Given the description of an element on the screen output the (x, y) to click on. 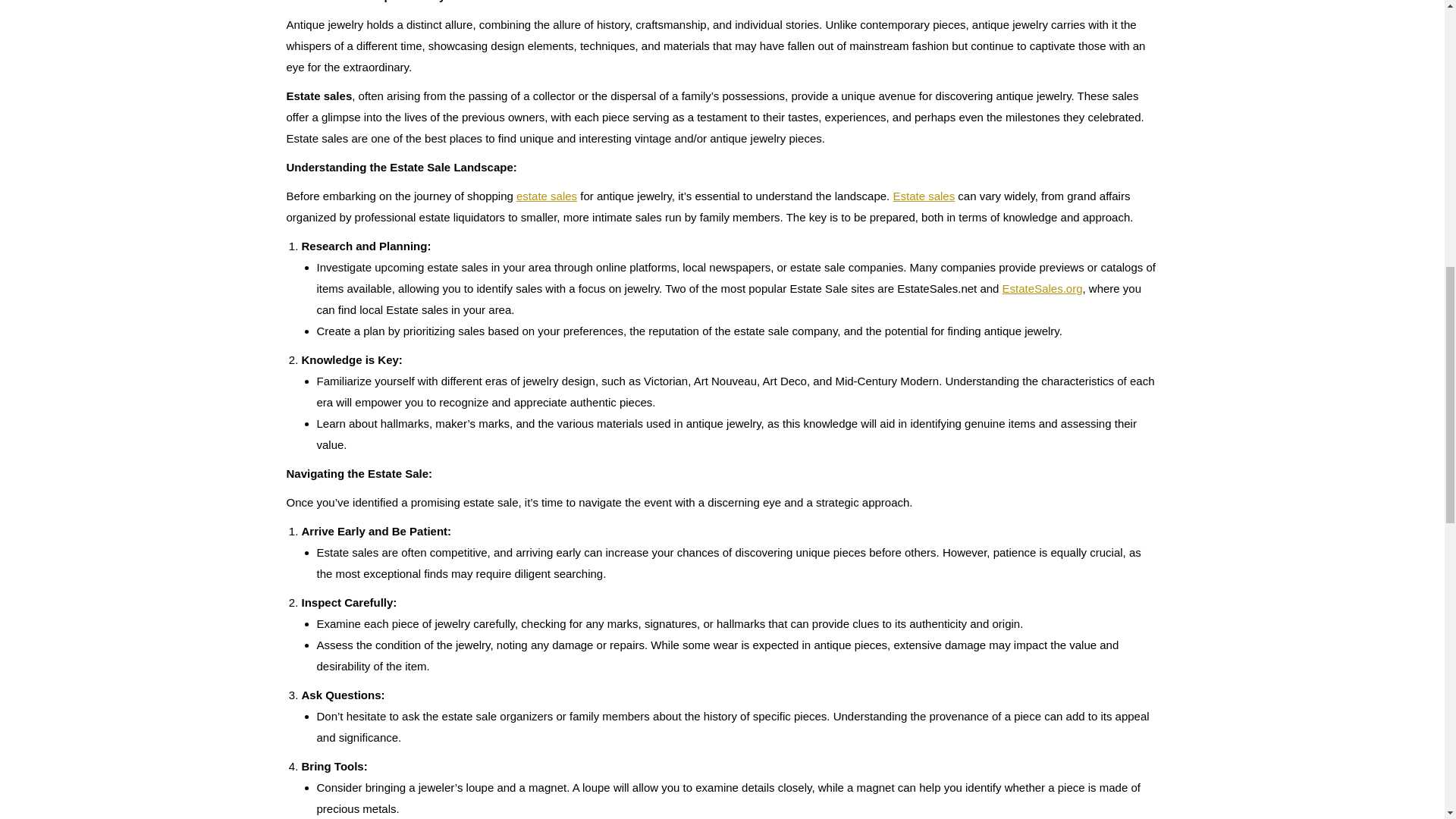
estate sales (546, 195)
Estate sales (923, 195)
EstateSales.org (1043, 287)
